Given the description of an element on the screen output the (x, y) to click on. 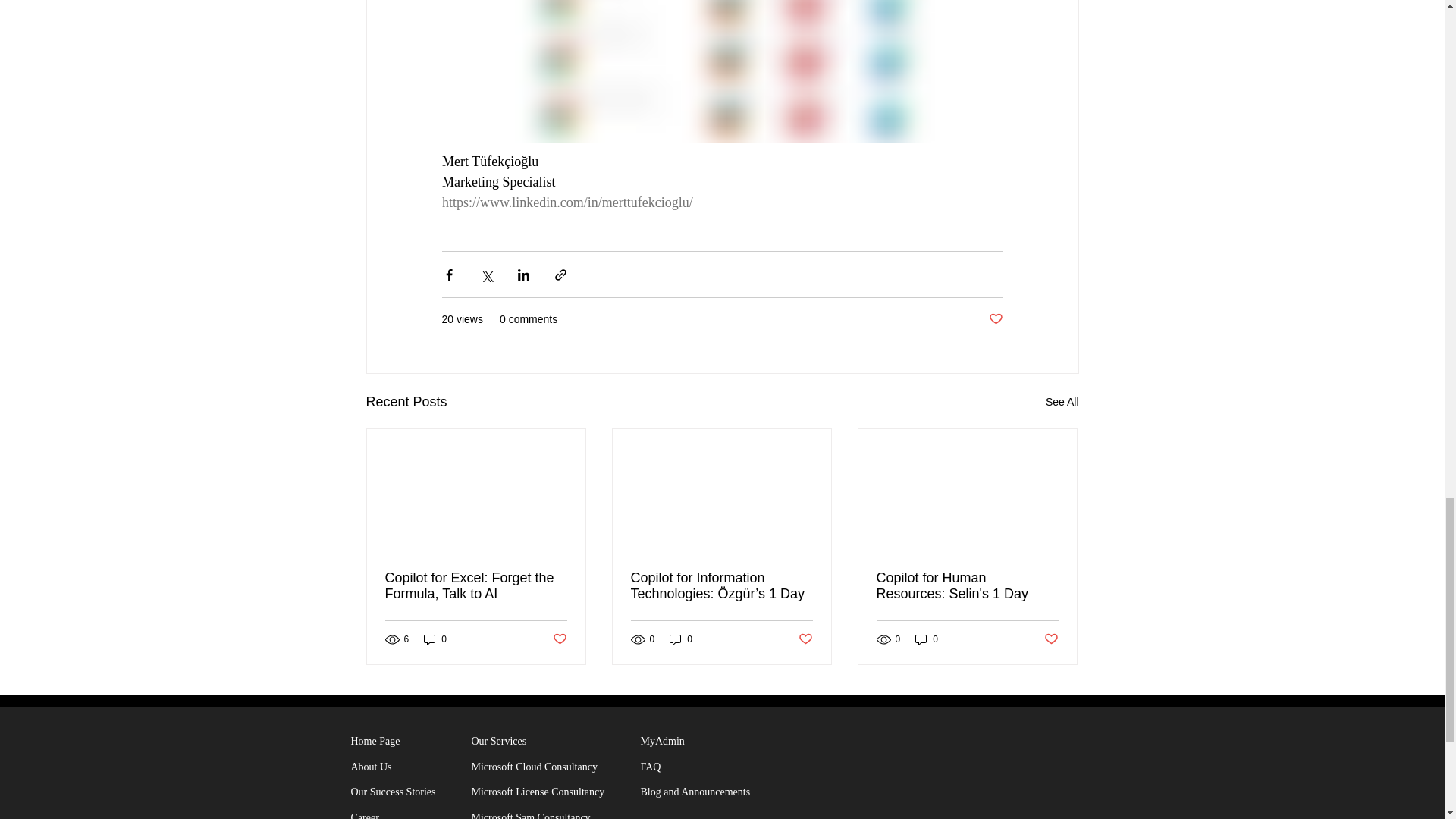
Microsoft Cloud Consultancy (533, 767)
Post not marked as liked (995, 319)
Post not marked as liked (804, 638)
About Us (370, 767)
Our Services (499, 740)
Home Page (374, 740)
Career (364, 815)
0 (435, 639)
Copilot for Excel: Forget the Formula, Talk to AI (476, 585)
Post not marked as liked (1050, 638)
0 (681, 639)
Microsoft License Consultancy (538, 791)
Post not marked as liked (558, 638)
See All (1061, 402)
Microsoft Sam Consultancy (531, 815)
